Given the description of an element on the screen output the (x, y) to click on. 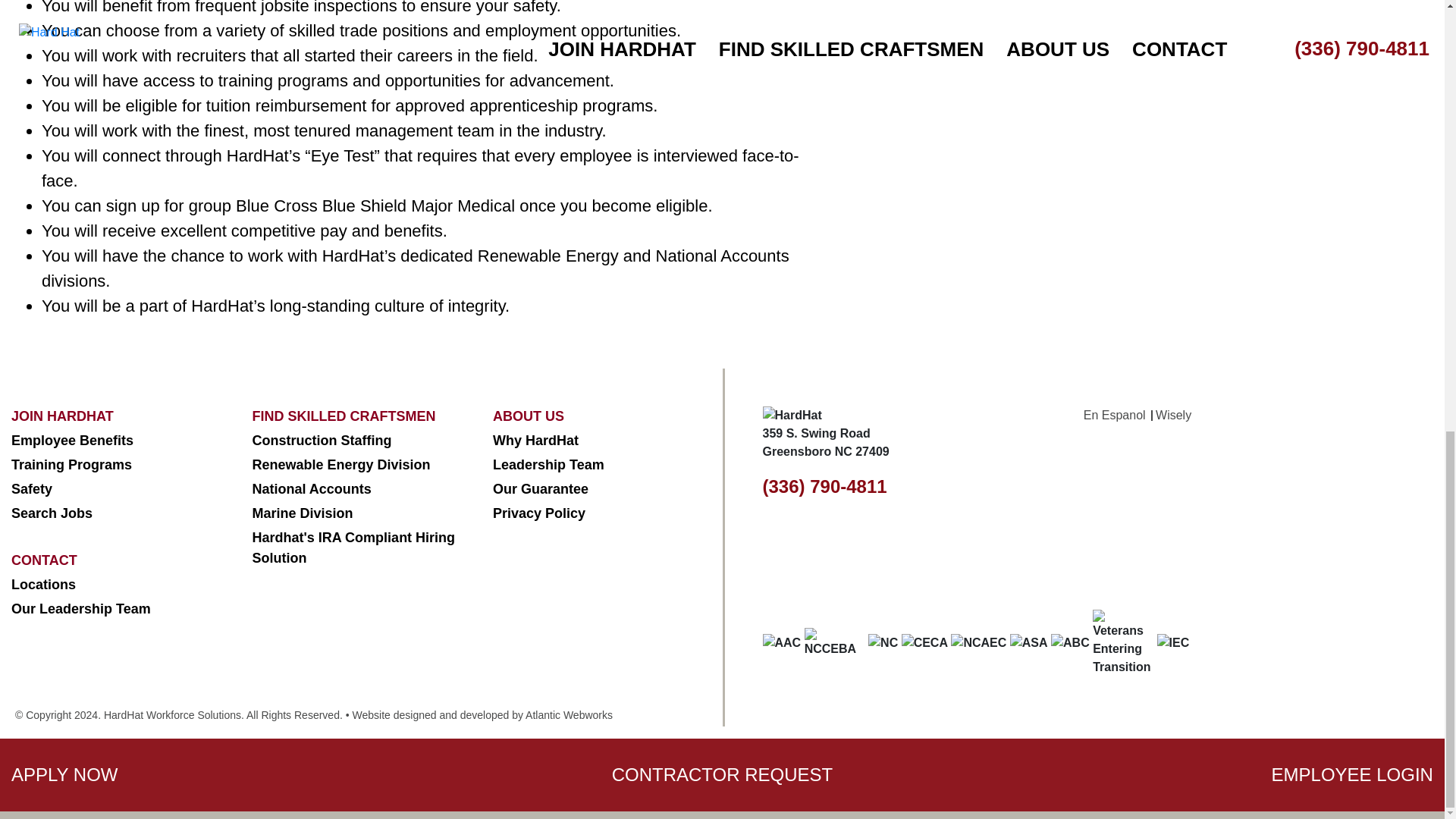
NCCEBA (834, 643)
HardHat (792, 415)
Veterans Entering Transition (1123, 642)
AAC (782, 642)
CECA (924, 642)
IEC (1173, 642)
ASA (1029, 642)
NCAEC (978, 642)
NC (882, 642)
ABC (1070, 642)
